Given the description of an element on the screen output the (x, y) to click on. 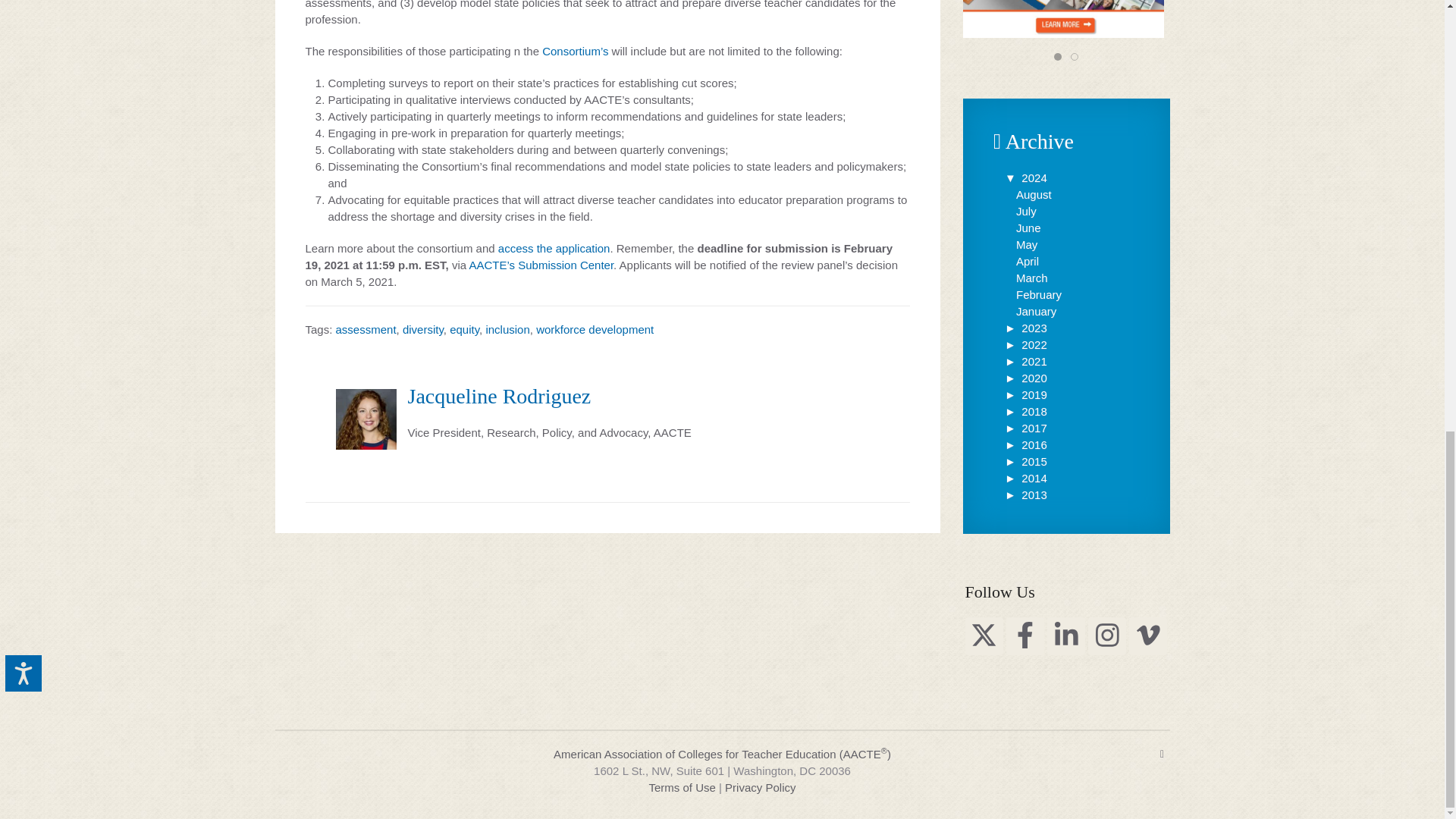
inclusion (506, 328)
2024 (1025, 177)
August (1033, 194)
2023 (1025, 327)
July (1026, 210)
Jacqueline Rodriguez (499, 395)
May (1026, 244)
workforce development (594, 328)
June (1028, 227)
April (1027, 260)
